Given the description of an element on the screen output the (x, y) to click on. 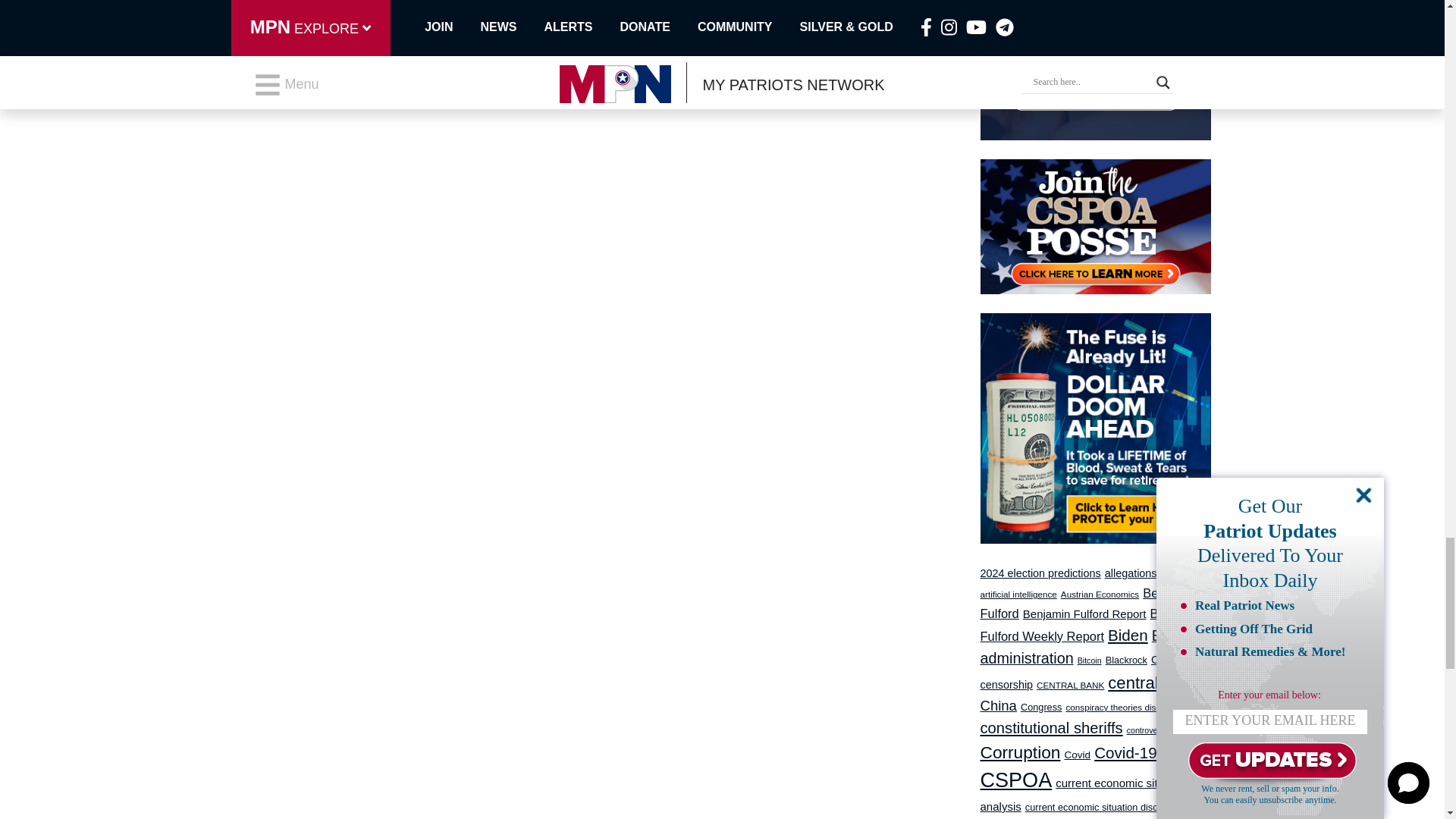
Post Comment (282, 4)
